Given the description of an element on the screen output the (x, y) to click on. 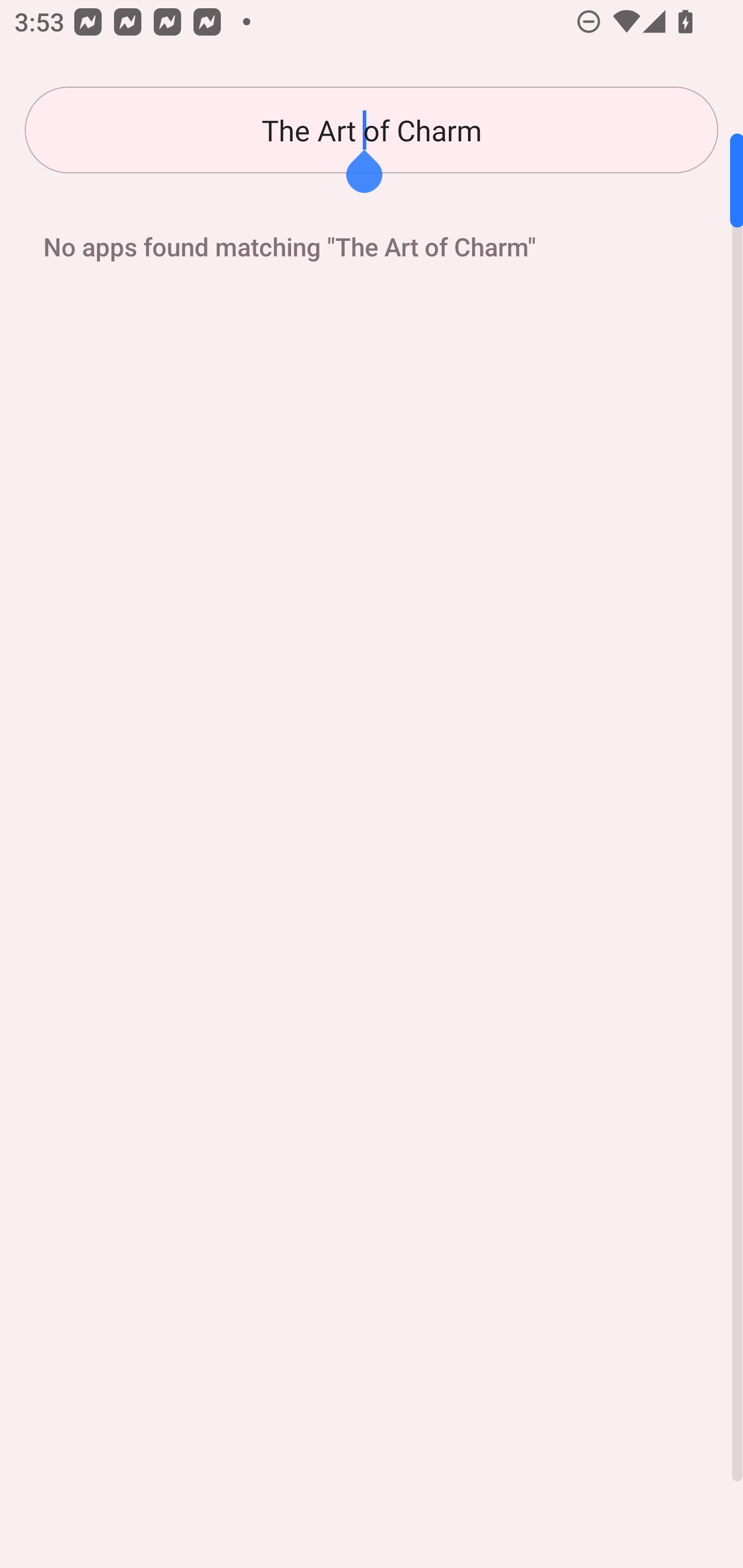
The Art of Charm (371, 130)
